Given the description of an element on the screen output the (x, y) to click on. 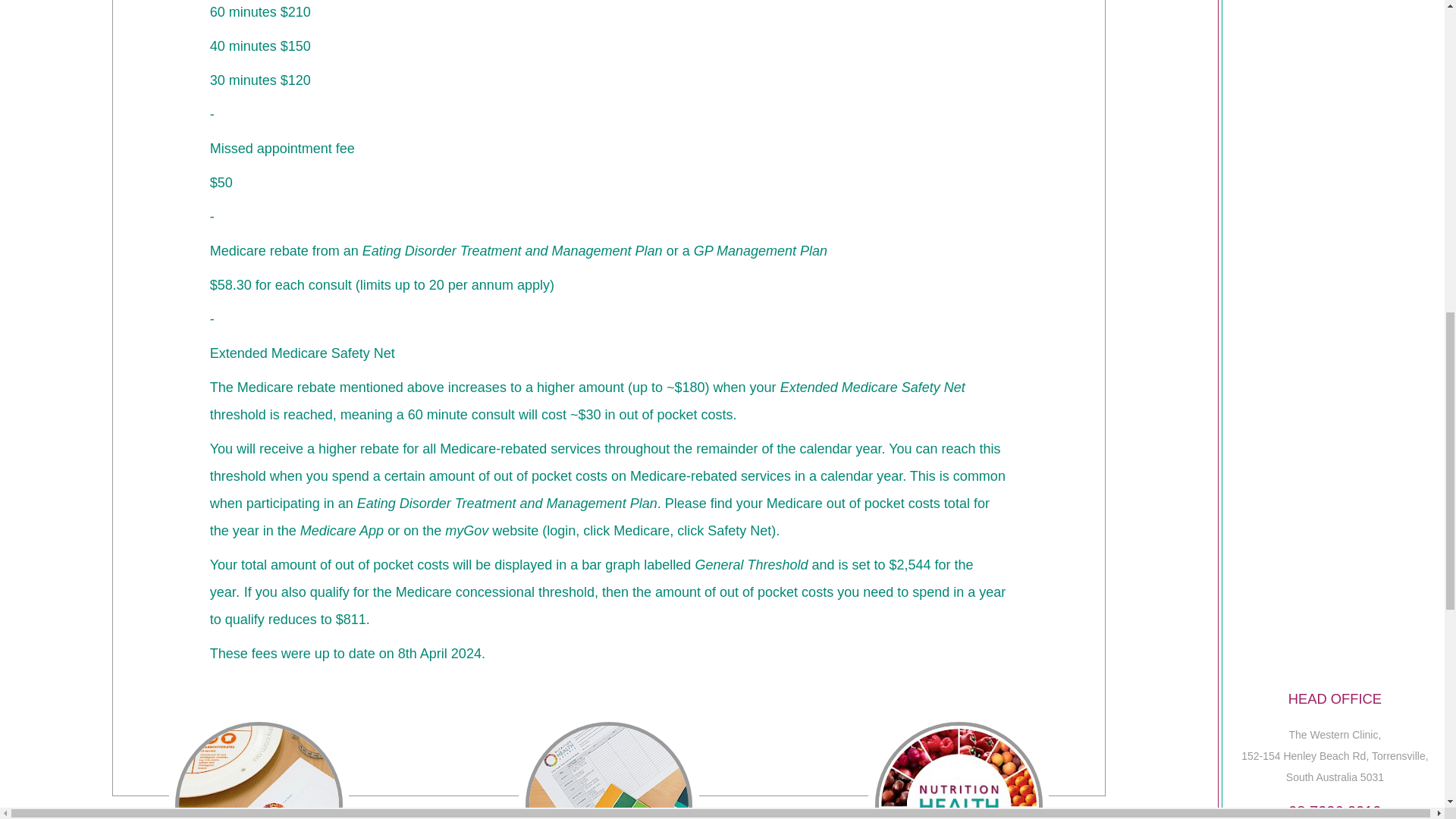
Articles (958, 766)
Articles (958, 766)
08 7226 2919 (1334, 809)
Head Office contact details (1334, 699)
Our Services (259, 766)
Resources (609, 766)
HEAD OFFICE (1334, 699)
Services (259, 766)
Call Nutrition Health Experts (1334, 809)
